Given the description of an element on the screen output the (x, y) to click on. 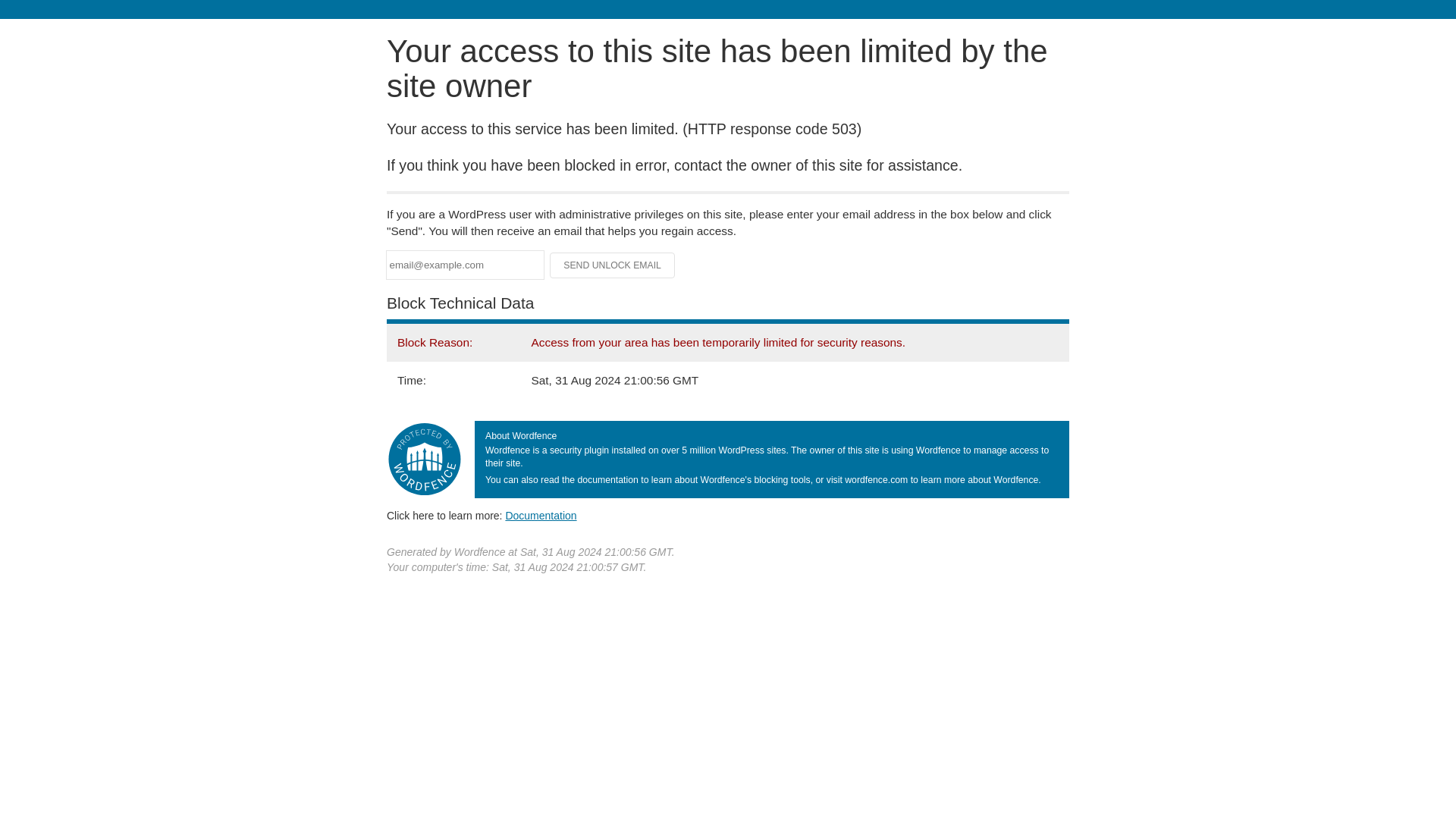
Send Unlock Email (612, 265)
Documentation (540, 515)
Send Unlock Email (612, 265)
